Given the description of an element on the screen output the (x, y) to click on. 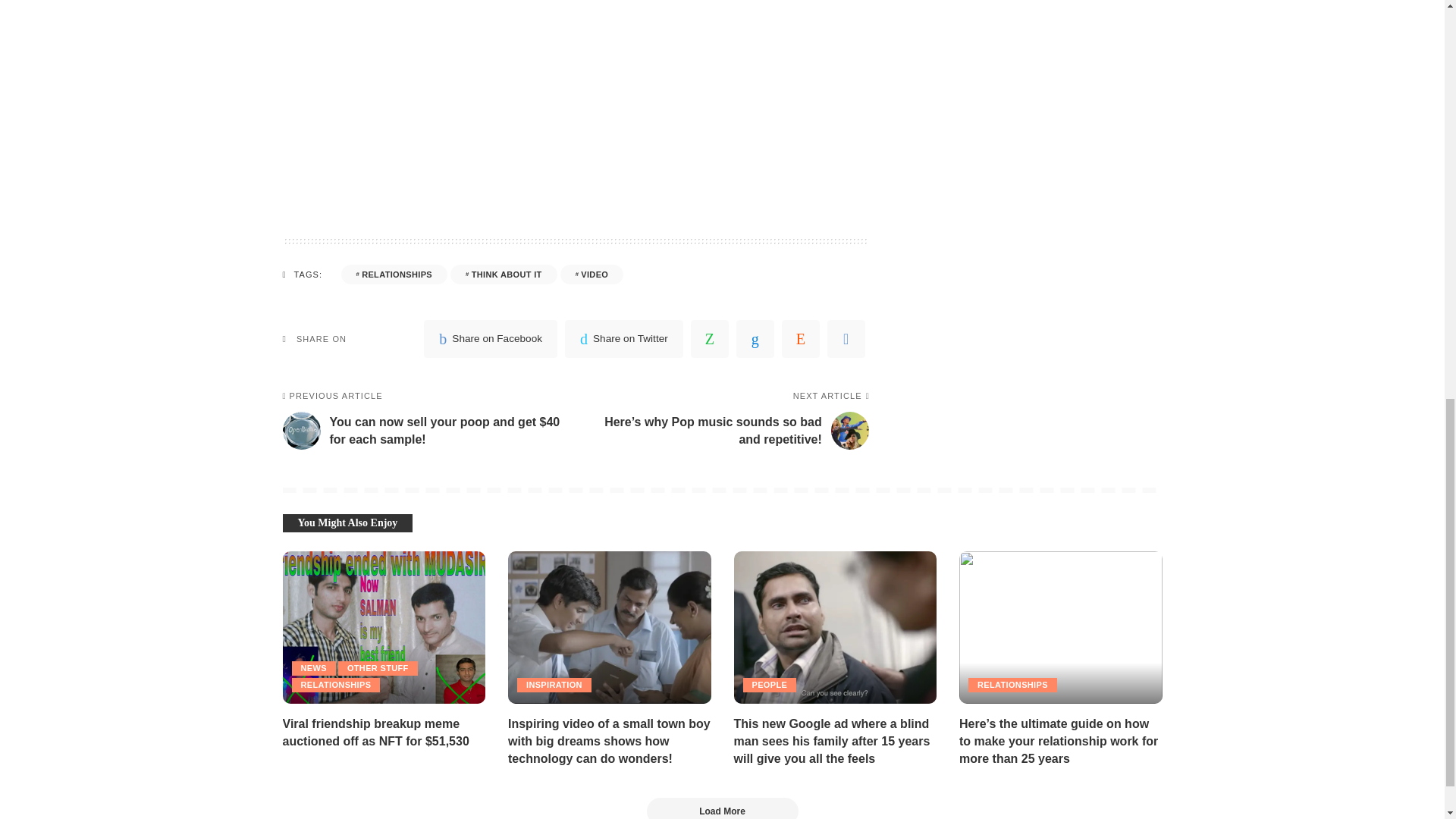
STRANGERS IN THE NIGHT (574, 76)
Relationships (394, 274)
Think About It (503, 274)
Video (592, 274)
Facebook (490, 338)
